Given the description of an element on the screen output the (x, y) to click on. 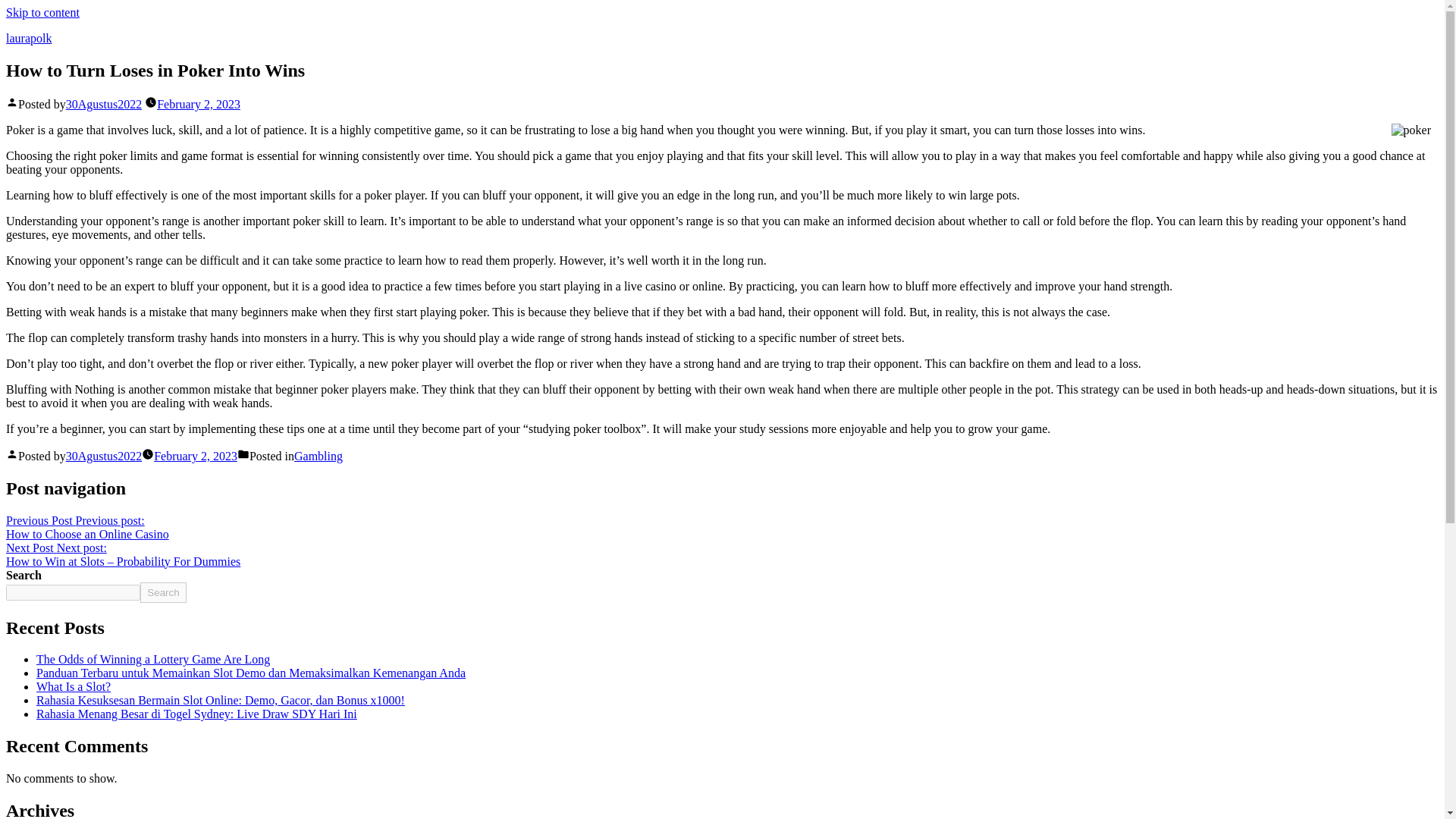
laurapolk (27, 38)
Skip to content (42, 11)
February 2, 2023 (198, 103)
Rahasia Menang Besar di Togel Sydney: Live Draw SDY Hari Ini (196, 713)
Gambling (318, 455)
What Is a Slot? (73, 686)
30Agustus2022 (86, 527)
February 2, 2023 (103, 455)
The Odds of Winning a Lottery Game Are Long (195, 455)
Search (152, 658)
30Agustus2022 (162, 592)
